Given the description of an element on the screen output the (x, y) to click on. 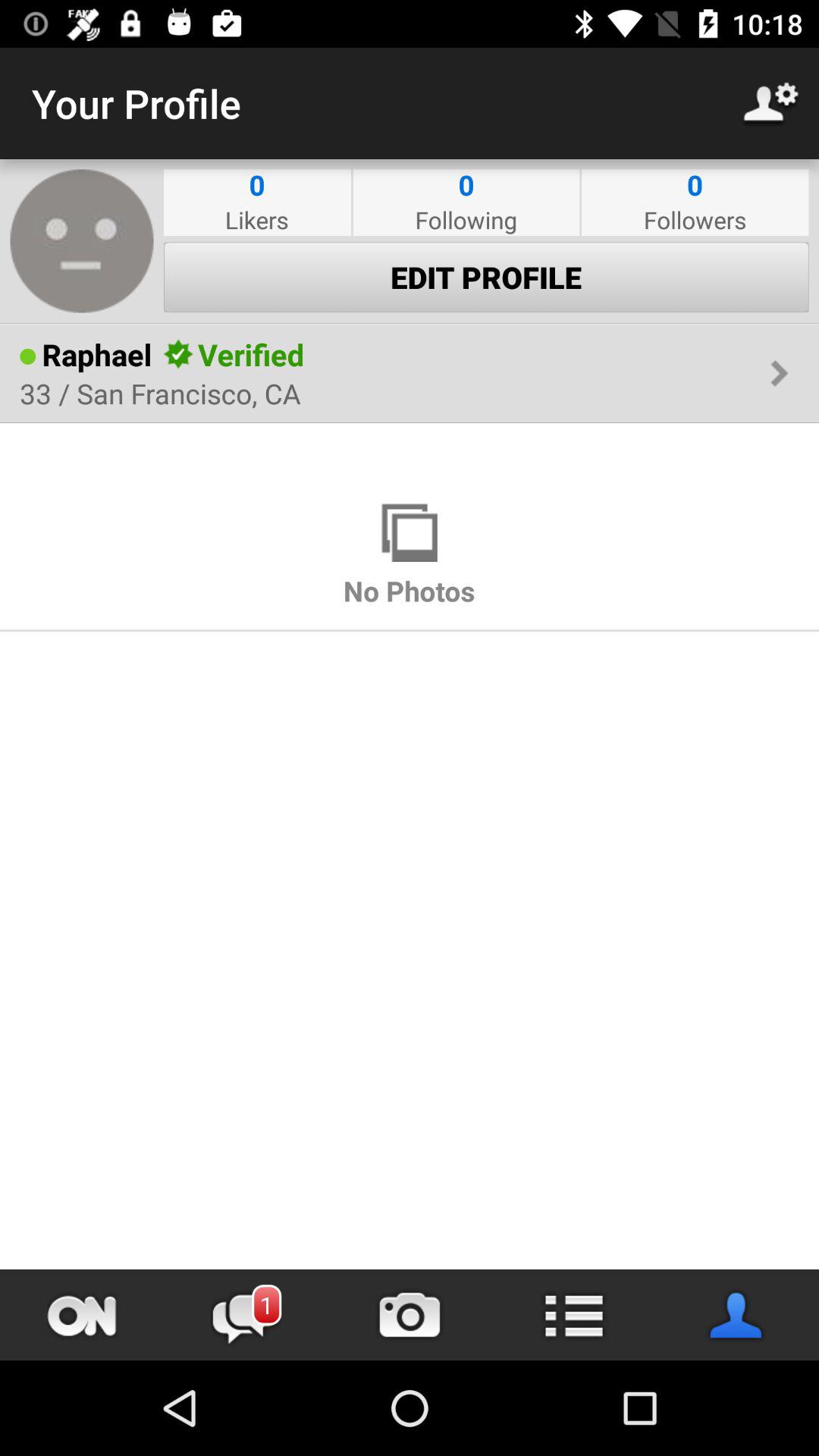
user information (737, 1315)
